Given the description of an element on the screen output the (x, y) to click on. 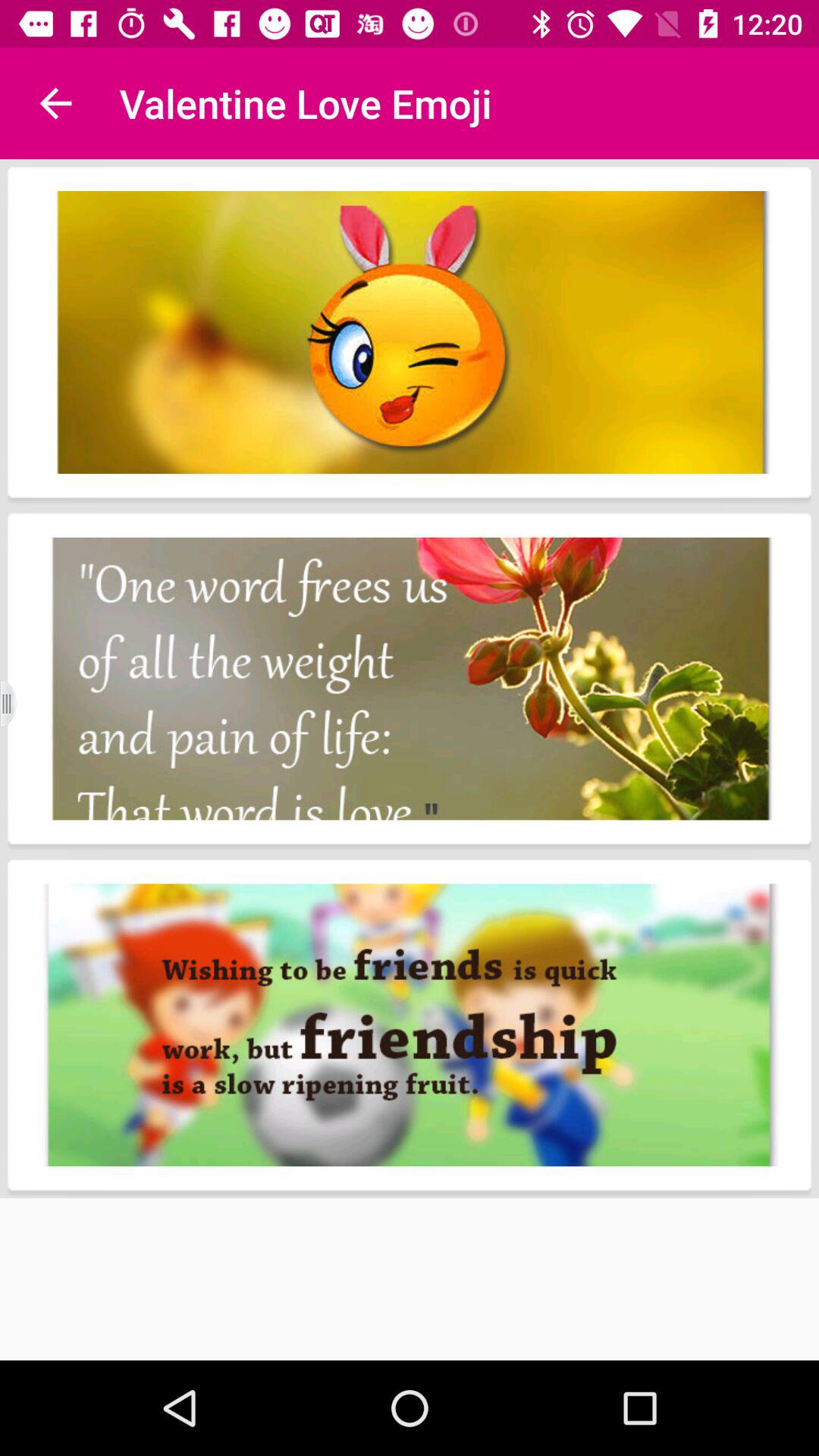
tap the item on the left (18, 703)
